Given the description of an element on the screen output the (x, y) to click on. 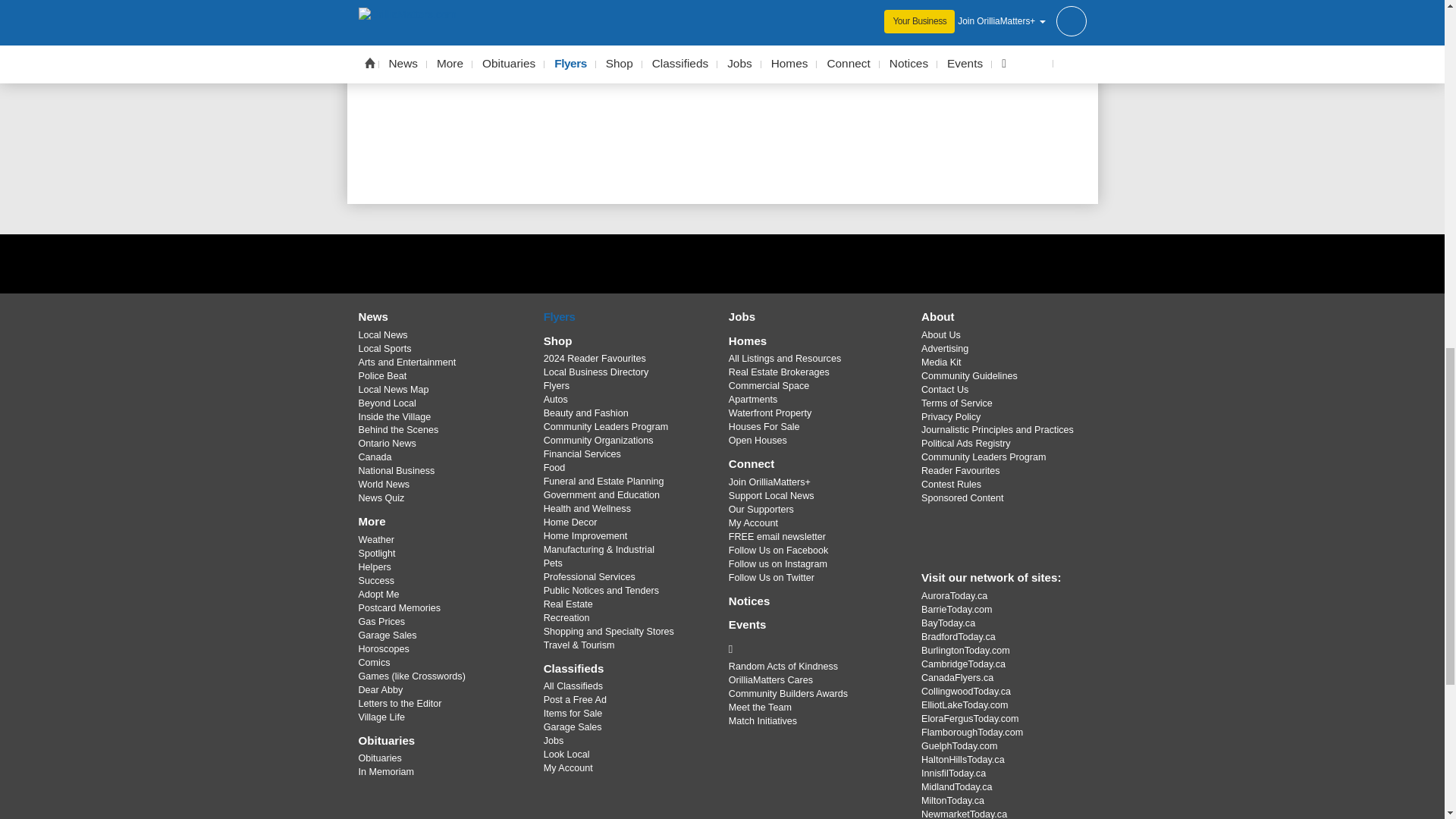
X (721, 262)
OrilliaMatters Cares (813, 648)
Instagram (760, 262)
Facebook (683, 262)
